Given the description of an element on the screen output the (x, y) to click on. 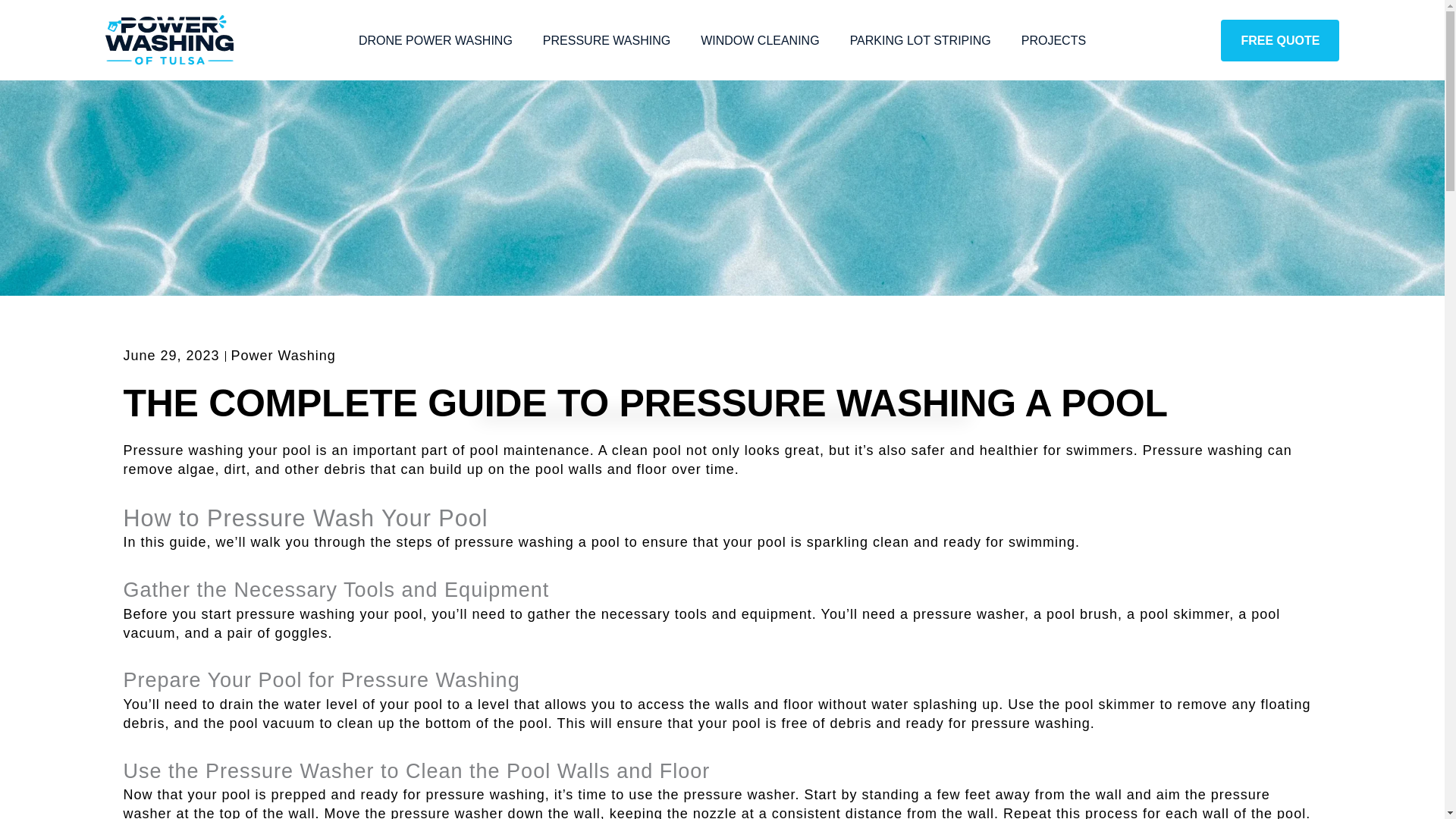
PROJECTS (1053, 39)
PRESSURE WASHING (606, 39)
PARKING LOT STRIPING (920, 39)
DRONE POWER WASHING (435, 39)
WINDOW CLEANING (759, 39)
FREE QUOTE (1280, 40)
